Given the description of an element on the screen output the (x, y) to click on. 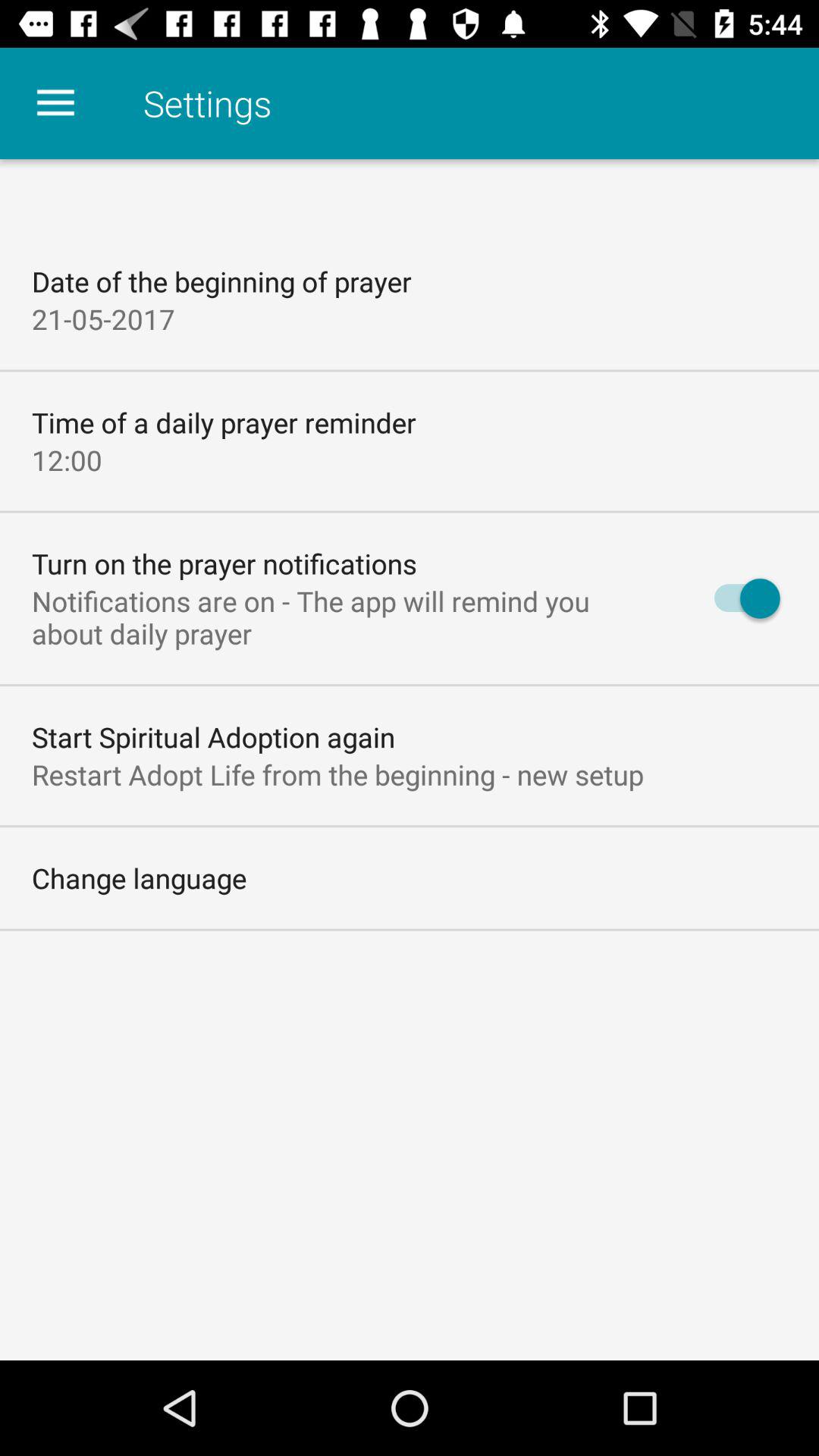
swipe until the 21-05-2017 icon (103, 318)
